Given the description of an element on the screen output the (x, y) to click on. 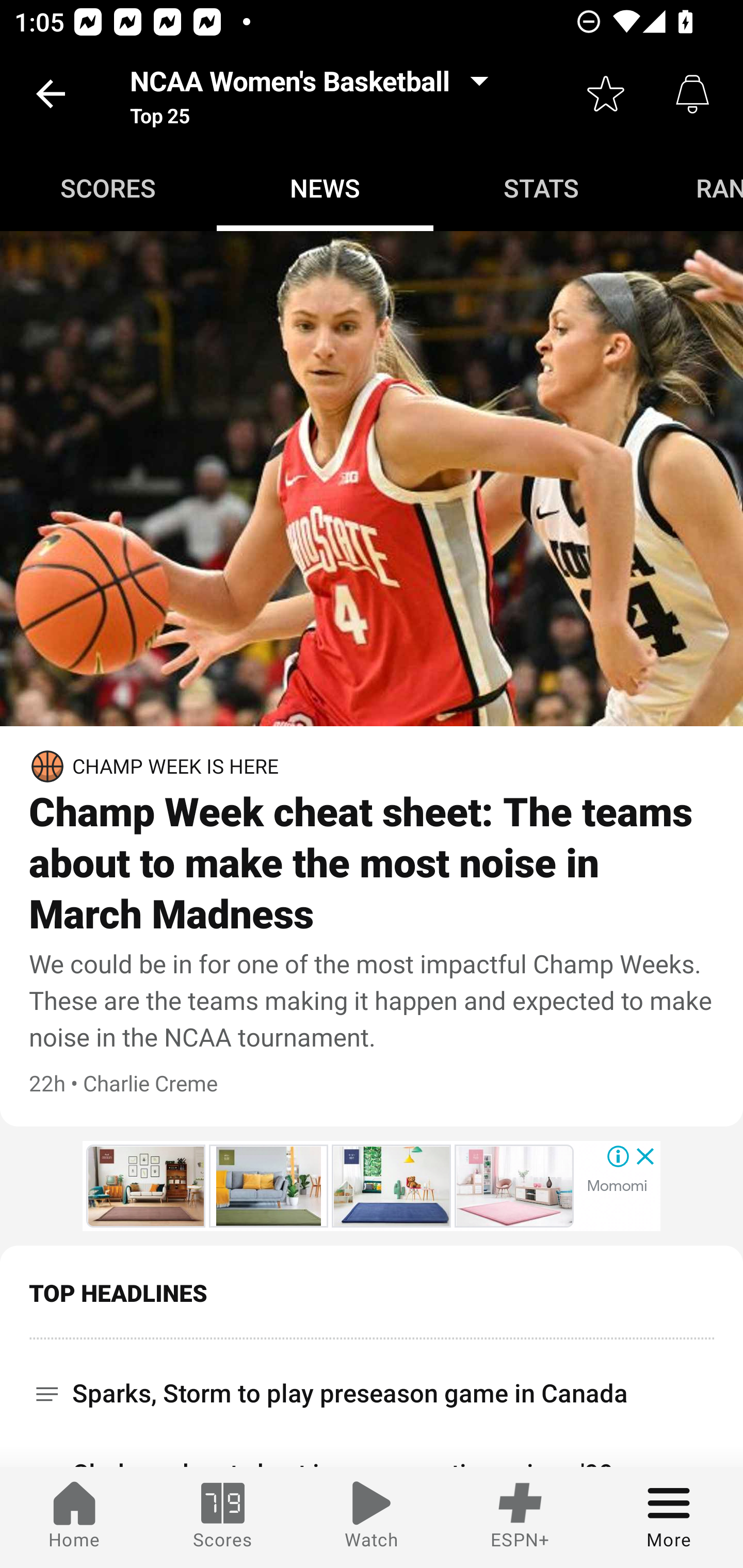
NCAA Women's Basketball Top 25 (315, 93)
Favorite toggle (605, 93)
Alerts (692, 93)
Scores SCORES (108, 187)
Stats STATS (541, 187)
Momomi (616, 1185)
 Sparks, Storm to play preseason game in Canada (371, 1386)
Home (74, 1517)
Scores (222, 1517)
Watch (371, 1517)
ESPN+ (519, 1517)
